Given the description of an element on the screen output the (x, y) to click on. 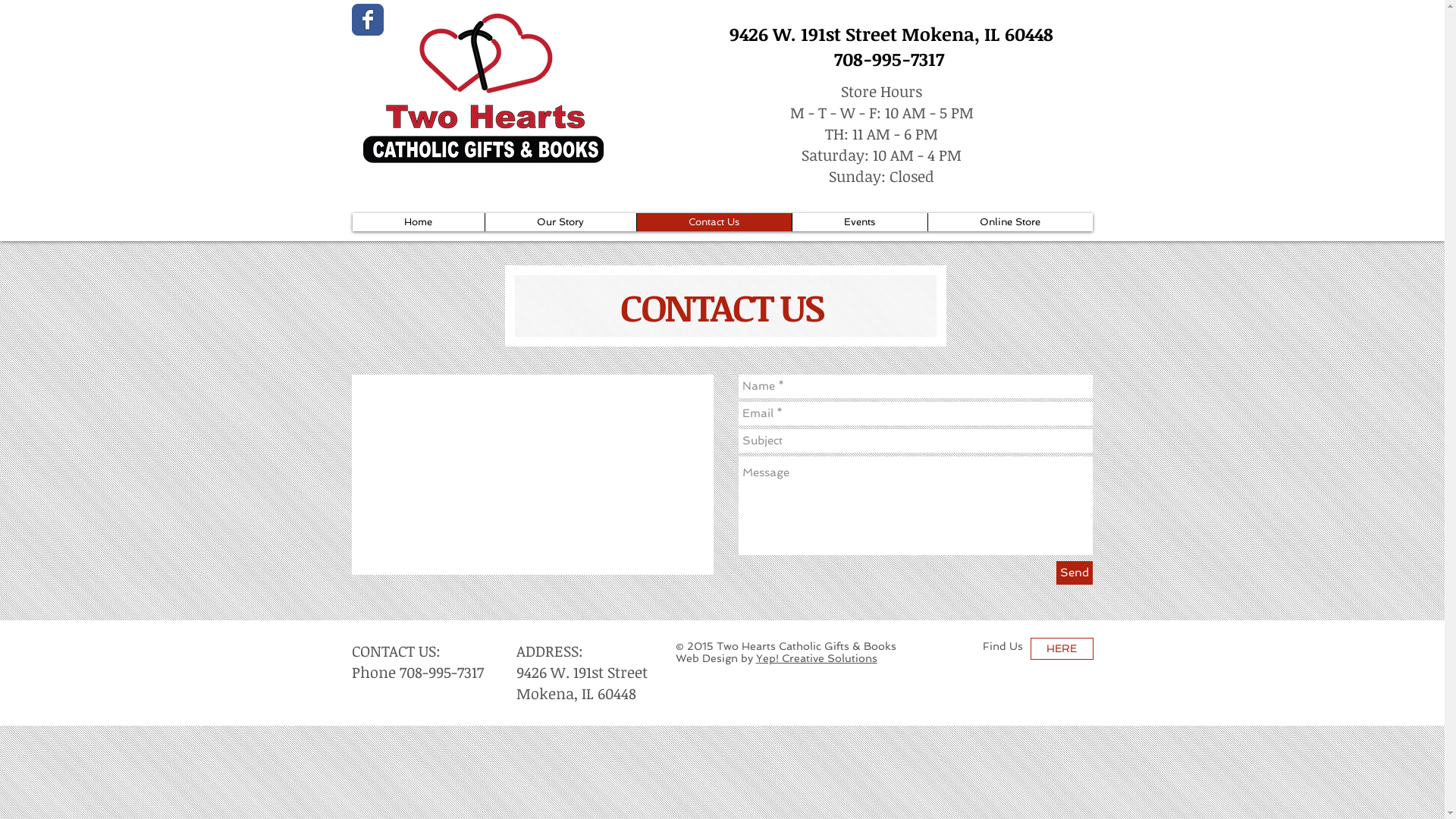
Contact Us Element type: text (712, 222)
HERE Element type: text (1060, 648)
Yep! Creative Solutions Element type: text (815, 658)
Online Store Element type: text (1009, 222)
Send Element type: text (1073, 572)
Events Element type: text (859, 222)
Google Maps Element type: hover (531, 474)
new Two hearts logo.png Element type: hover (482, 88)
Online Store Element type: hover (707, 153)
Home Element type: text (417, 222)
Our Story Element type: text (559, 222)
